Given the description of an element on the screen output the (x, y) to click on. 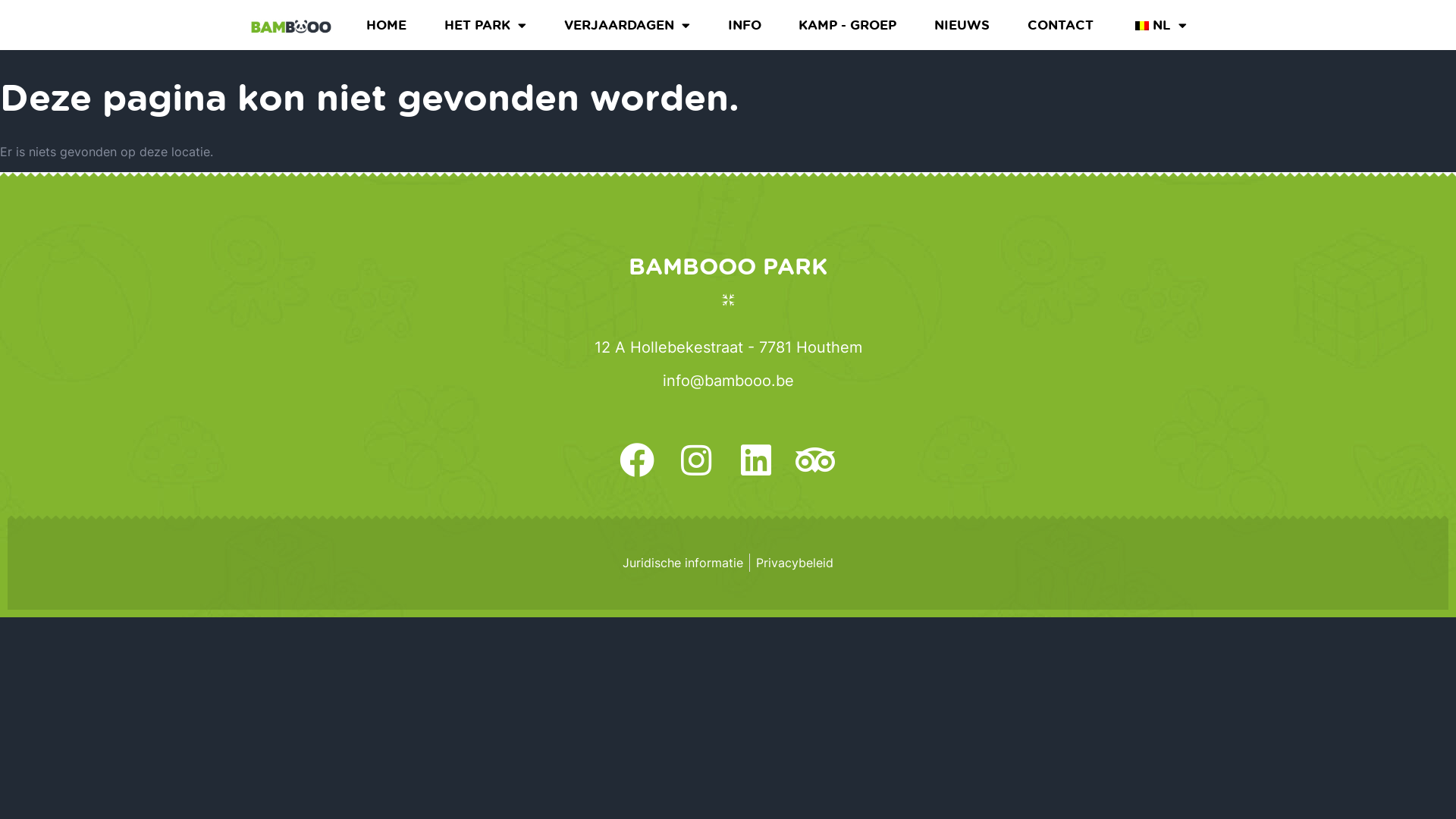
HOME Element type: text (386, 24)
Privacybeleid Element type: text (794, 562)
INFO Element type: text (744, 24)
NIEUWS Element type: text (961, 24)
NL Element type: text (1158, 24)
VERJAARDAGEN Element type: text (627, 24)
KAMP - GROEP Element type: text (847, 24)
HET PARK Element type: text (485, 24)
Juridische informatie Element type: text (682, 562)
CONTACT Element type: text (1060, 24)
